Given the description of an element on the screen output the (x, y) to click on. 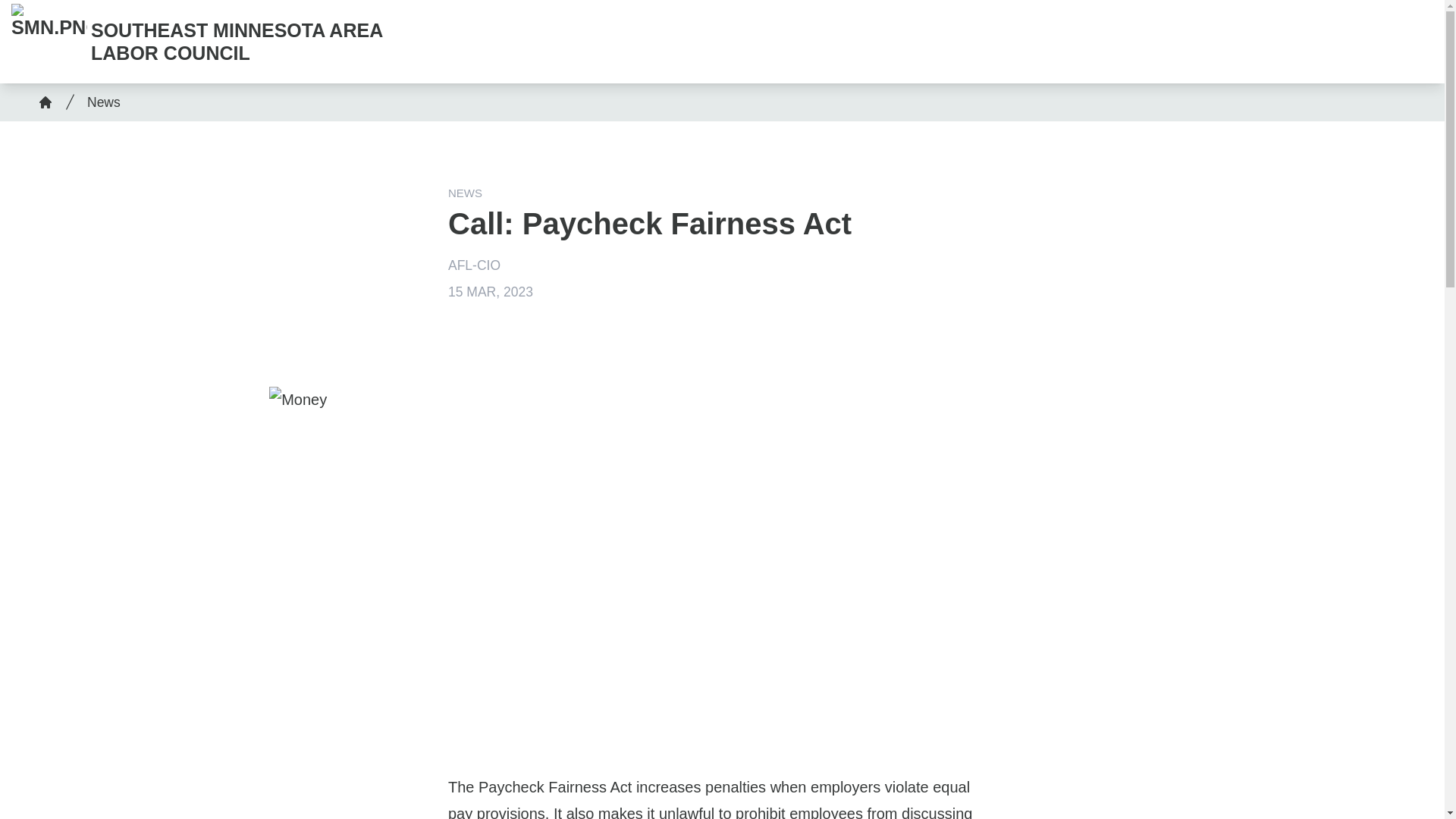
News (100, 101)
NEWS (464, 192)
Wednesday, March 15, 2023 - 14:51 (490, 291)
SOUTHEAST MINNESOTA AREA LABOR COUNCIL (206, 41)
Home (44, 102)
